Given the description of an element on the screen output the (x, y) to click on. 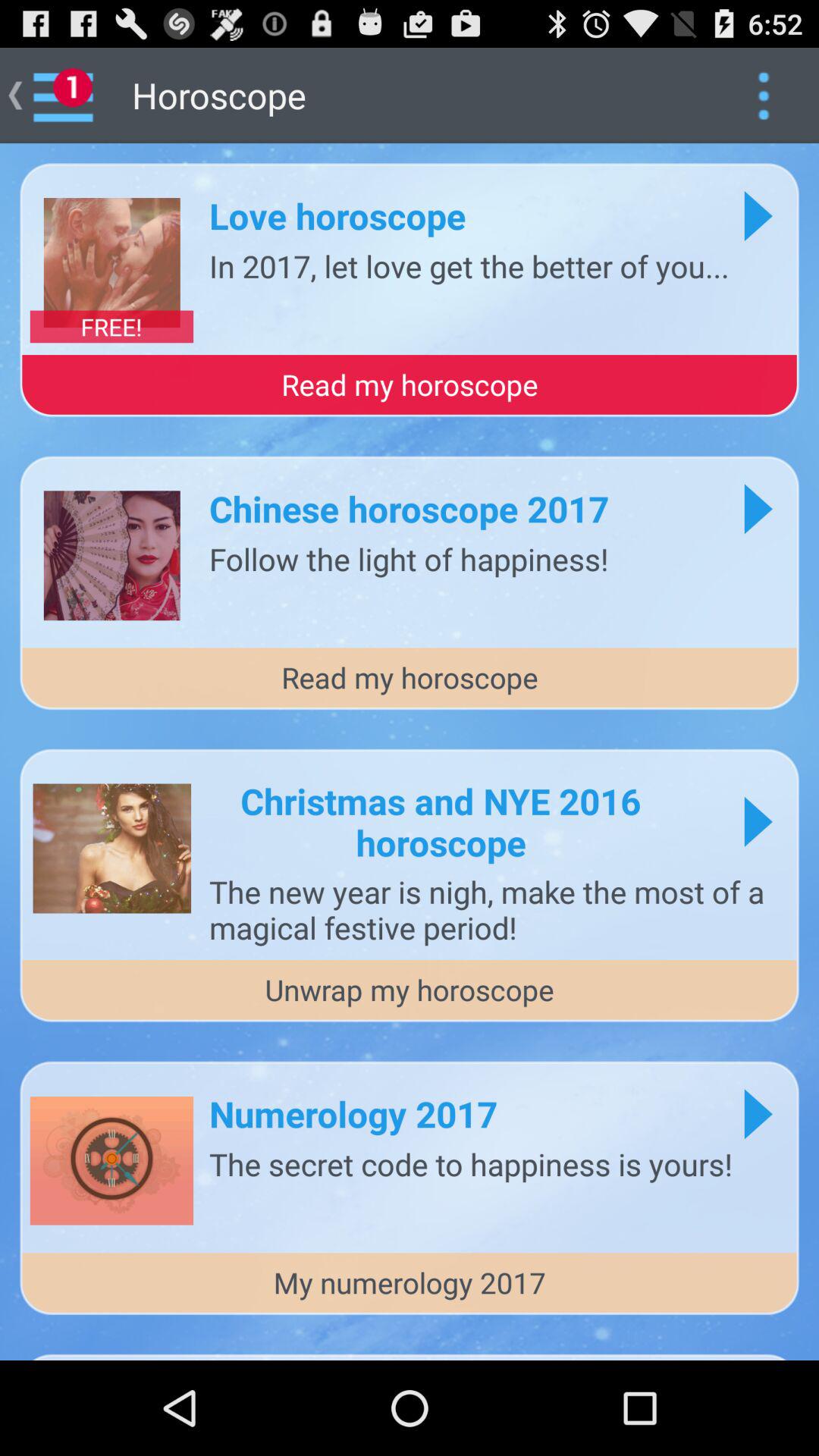
turn on item next to the horoscope app (763, 95)
